Given the description of an element on the screen output the (x, y) to click on. 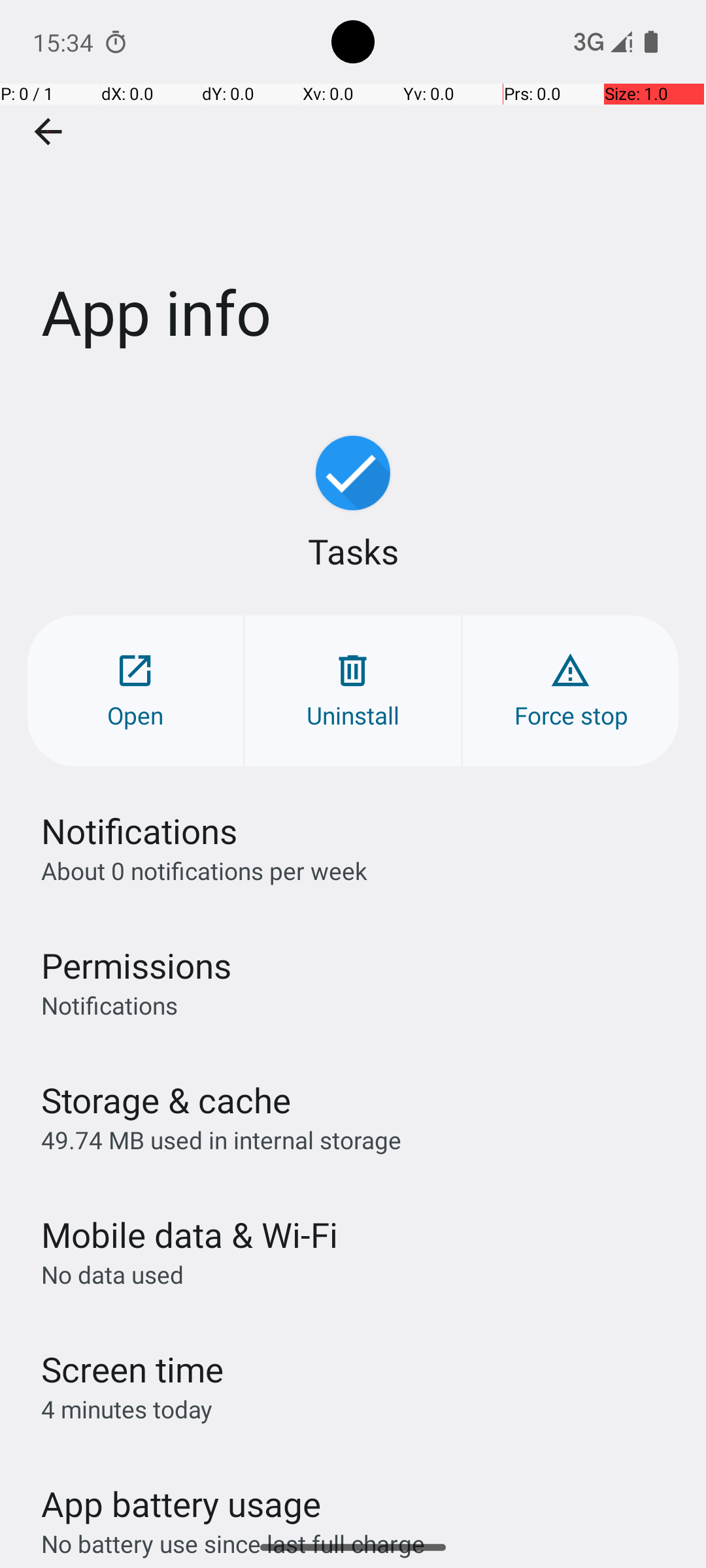
49.74 MB used in internal storage Element type: android.widget.TextView (221, 1139)
4 minutes today Element type: android.widget.TextView (127, 1408)
